Given the description of an element on the screen output the (x, y) to click on. 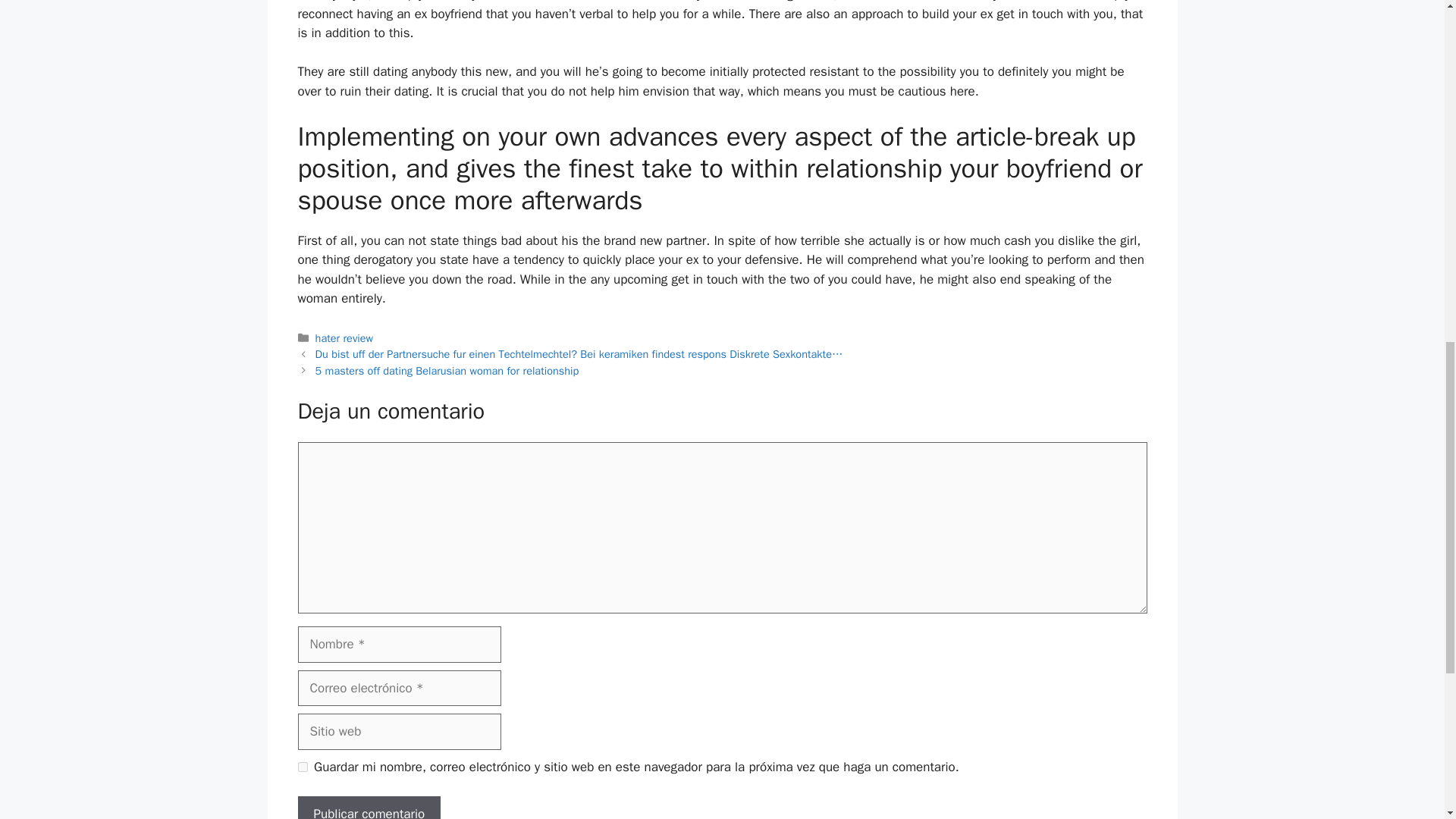
hater review (343, 337)
yes (302, 767)
5 masters off dating Belarusian woman for relationship (447, 370)
Publicar comentario (369, 807)
Publicar comentario (369, 807)
